Given the description of an element on the screen output the (x, y) to click on. 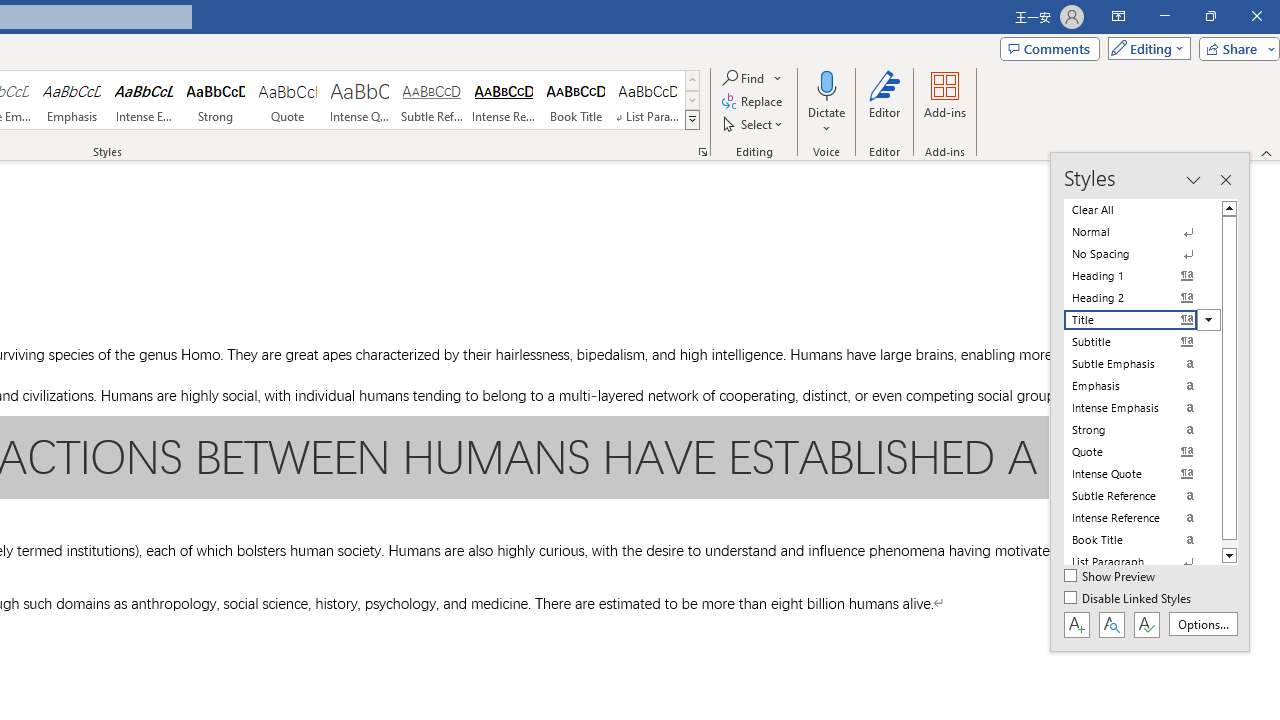
Clear All (1142, 209)
Strong (216, 100)
Editing (1144, 47)
Subtitle (1142, 341)
Intense Emphasis (143, 100)
Subtle Emphasis (1142, 363)
Heading 2 (1142, 297)
